Given the description of an element on the screen output the (x, y) to click on. 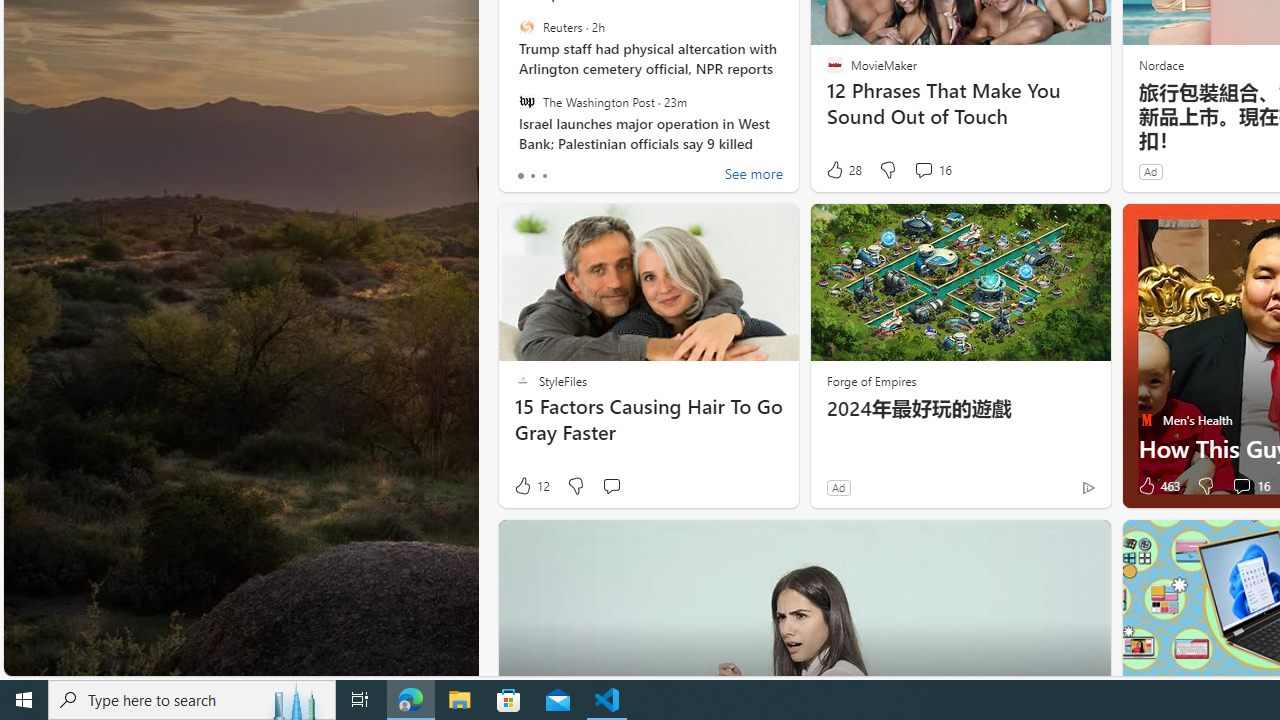
28 Like (843, 170)
Reuters (526, 27)
